Given the description of an element on the screen output the (x, y) to click on. 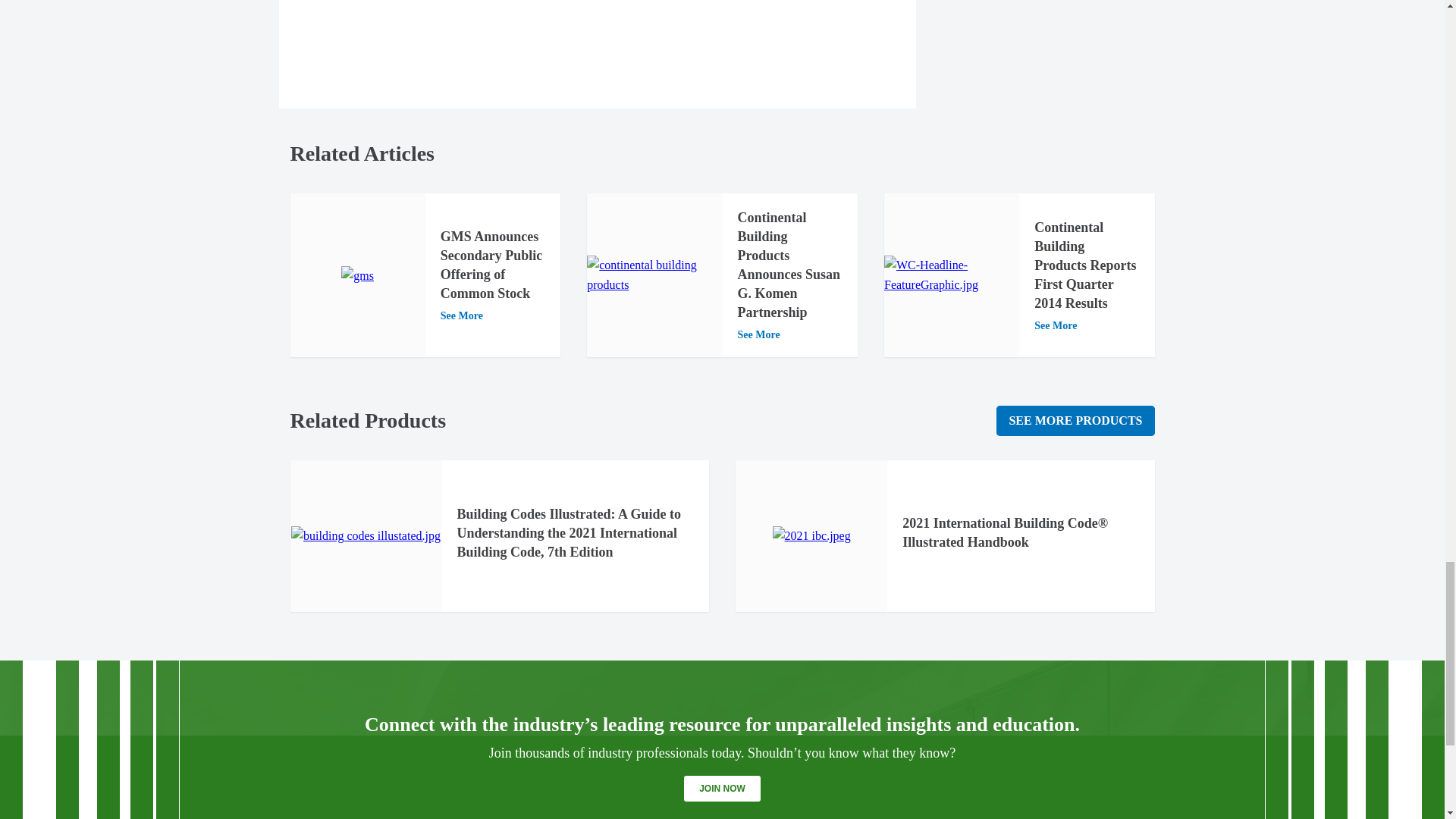
building codes illustated.jpg (366, 536)
continental building products (654, 275)
2021 ibc.jpeg (811, 536)
gms (357, 275)
WC-Headline-FeatureGraphic.jpg (951, 275)
Interaction questions (1052, 52)
